Given the description of an element on the screen output the (x, y) to click on. 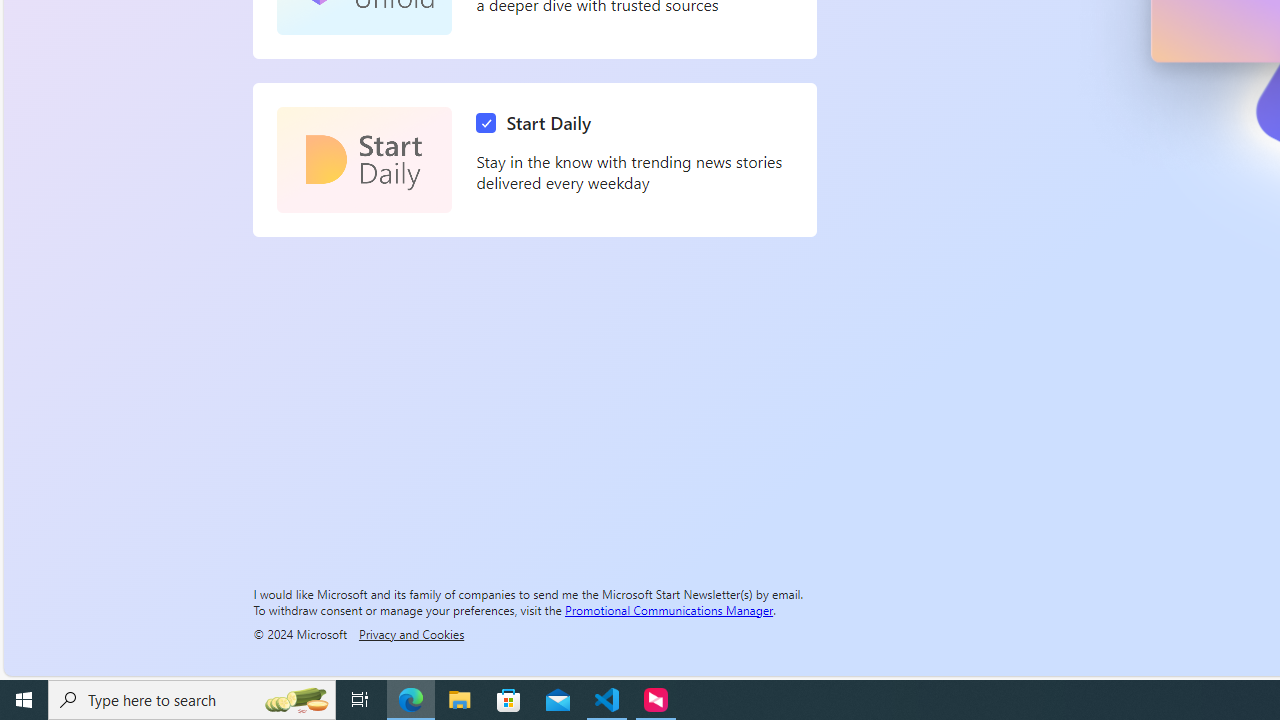
Start Daily (538, 123)
Privacy and Cookies (411, 633)
Promotional Communications Manager (669, 609)
Start Daily (364, 160)
